Given the description of an element on the screen output the (x, y) to click on. 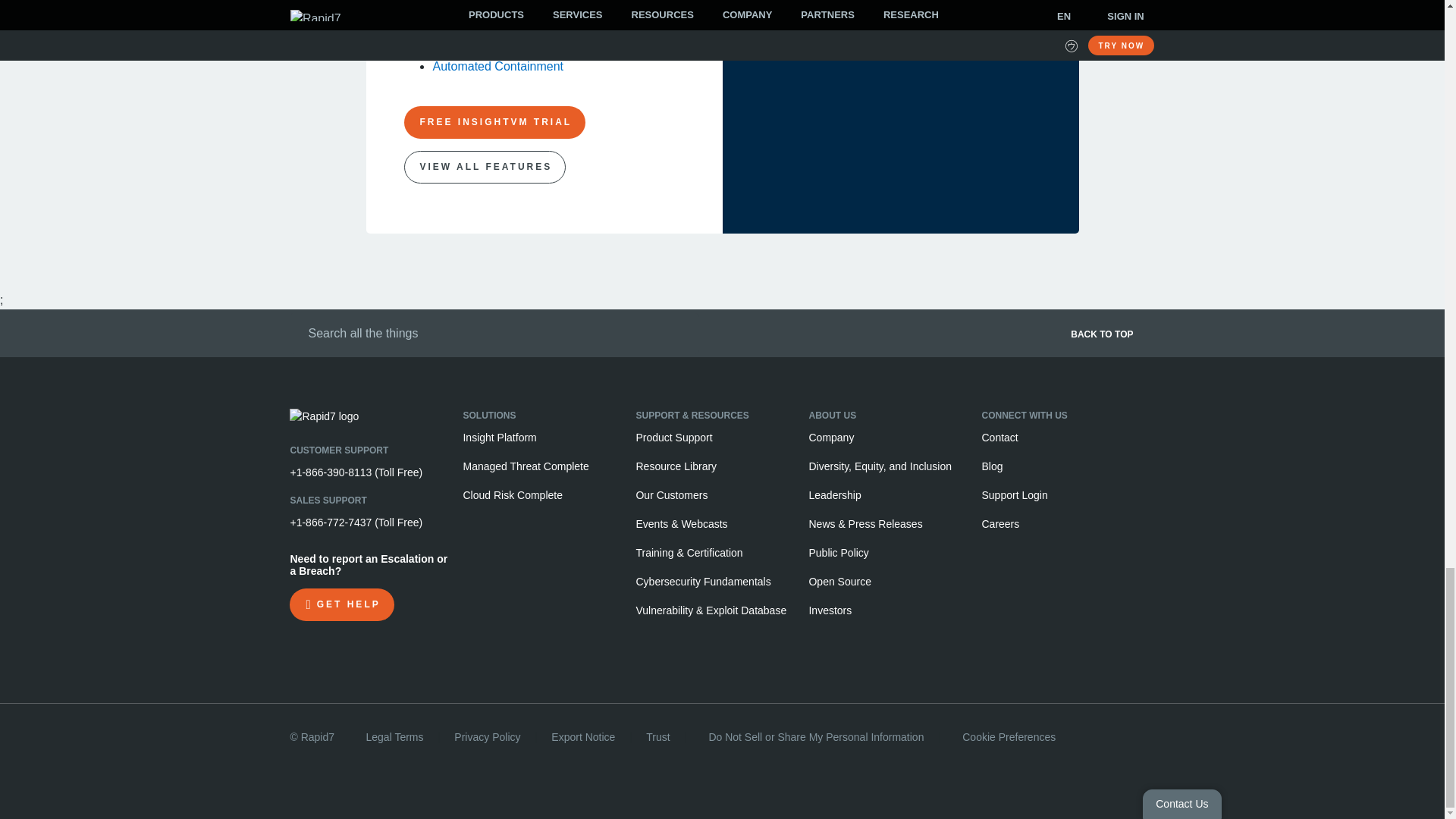
Submit Search (294, 330)
Submit Search (294, 330)
BACK TO TOP (949, 338)
